Given the description of an element on the screen output the (x, y) to click on. 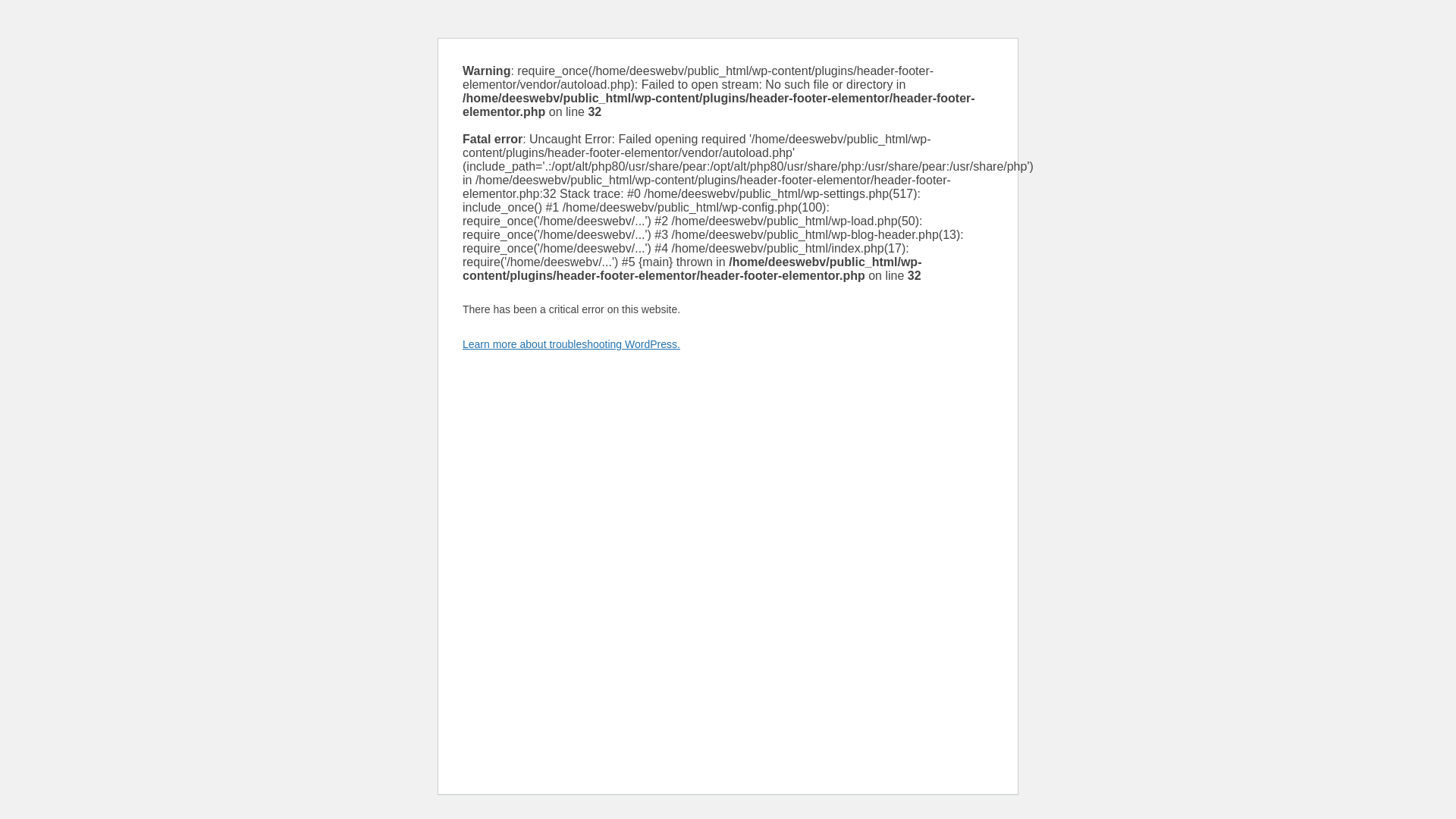
Learn more about troubleshooting WordPress. (571, 344)
